Given the description of an element on the screen output the (x, y) to click on. 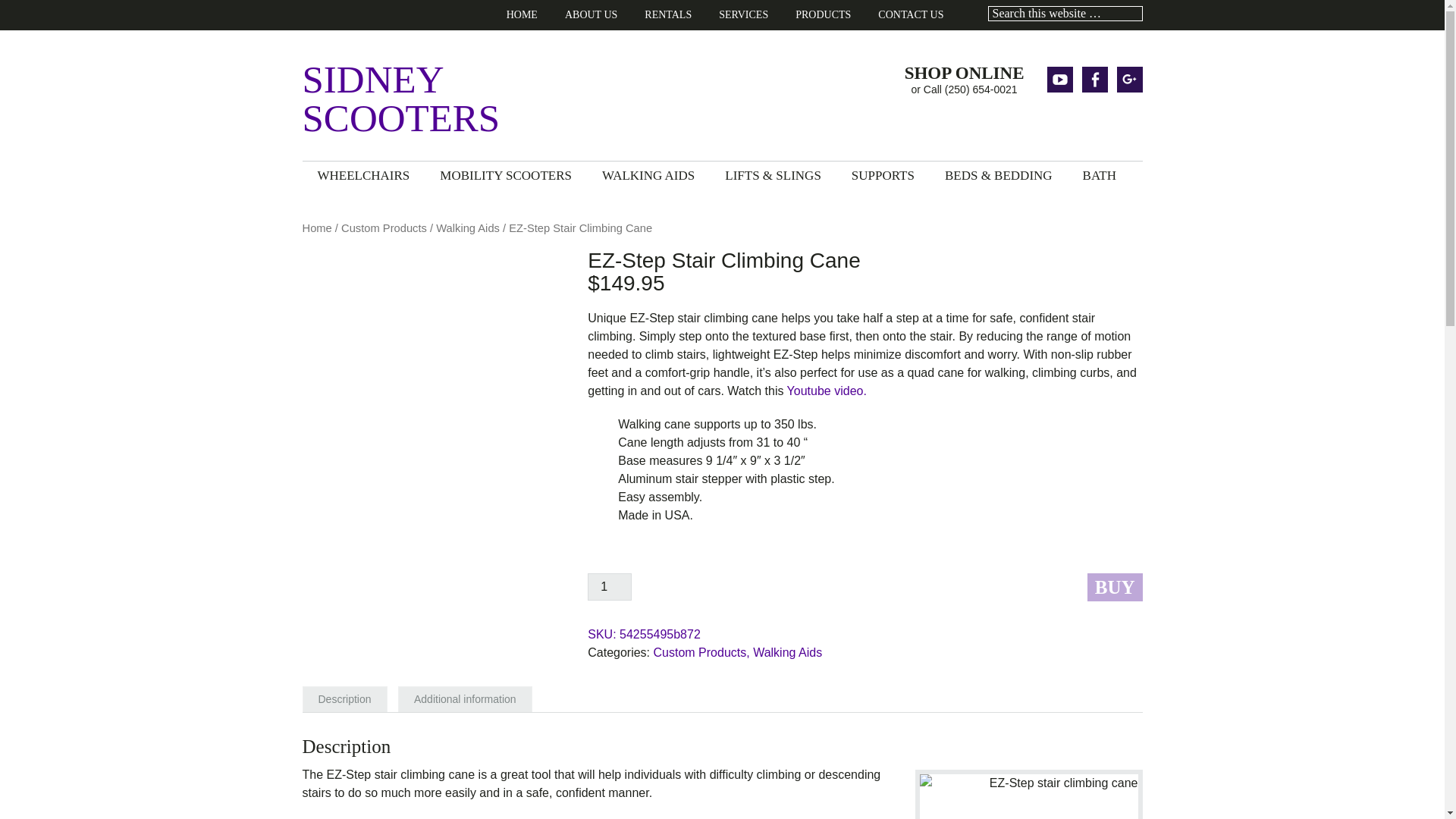
HOME (522, 14)
SERVICES (742, 14)
SIDNEY SCOOTERS (453, 99)
WHEELCHAIRS (363, 175)
Youtube (1058, 79)
Facebook (1093, 79)
Youtube video. (826, 390)
Youtube (1058, 79)
Facebook (1093, 79)
